Given the description of an element on the screen output the (x, y) to click on. 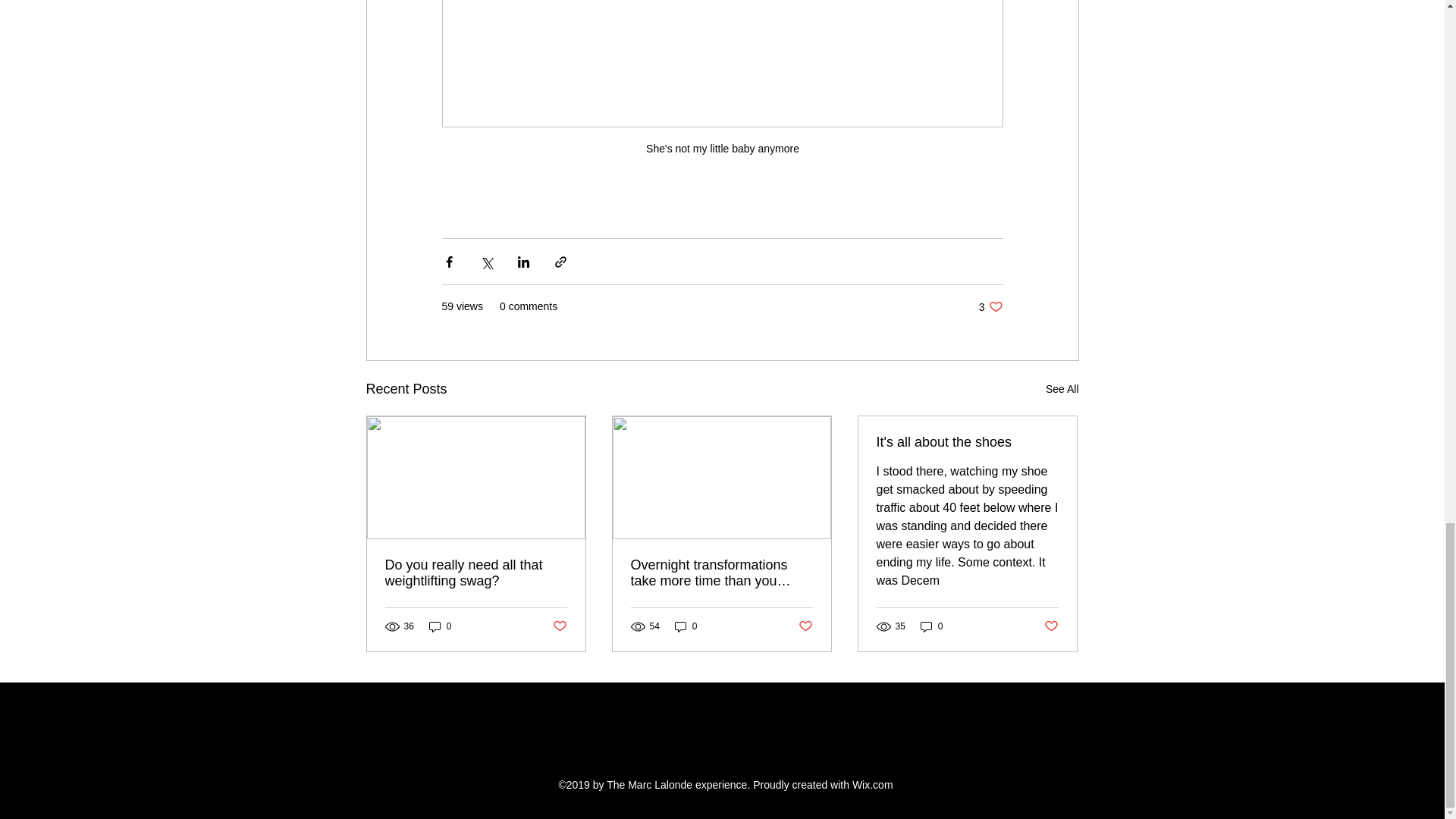
It's all about the shoes (967, 442)
See All (1061, 389)
0 (685, 626)
0 (931, 626)
Post not marked as liked (990, 306)
Post not marked as liked (558, 626)
Post not marked as liked (1050, 626)
Do you really need all that weightlifting swag? (804, 626)
0 (476, 572)
